Given the description of an element on the screen output the (x, y) to click on. 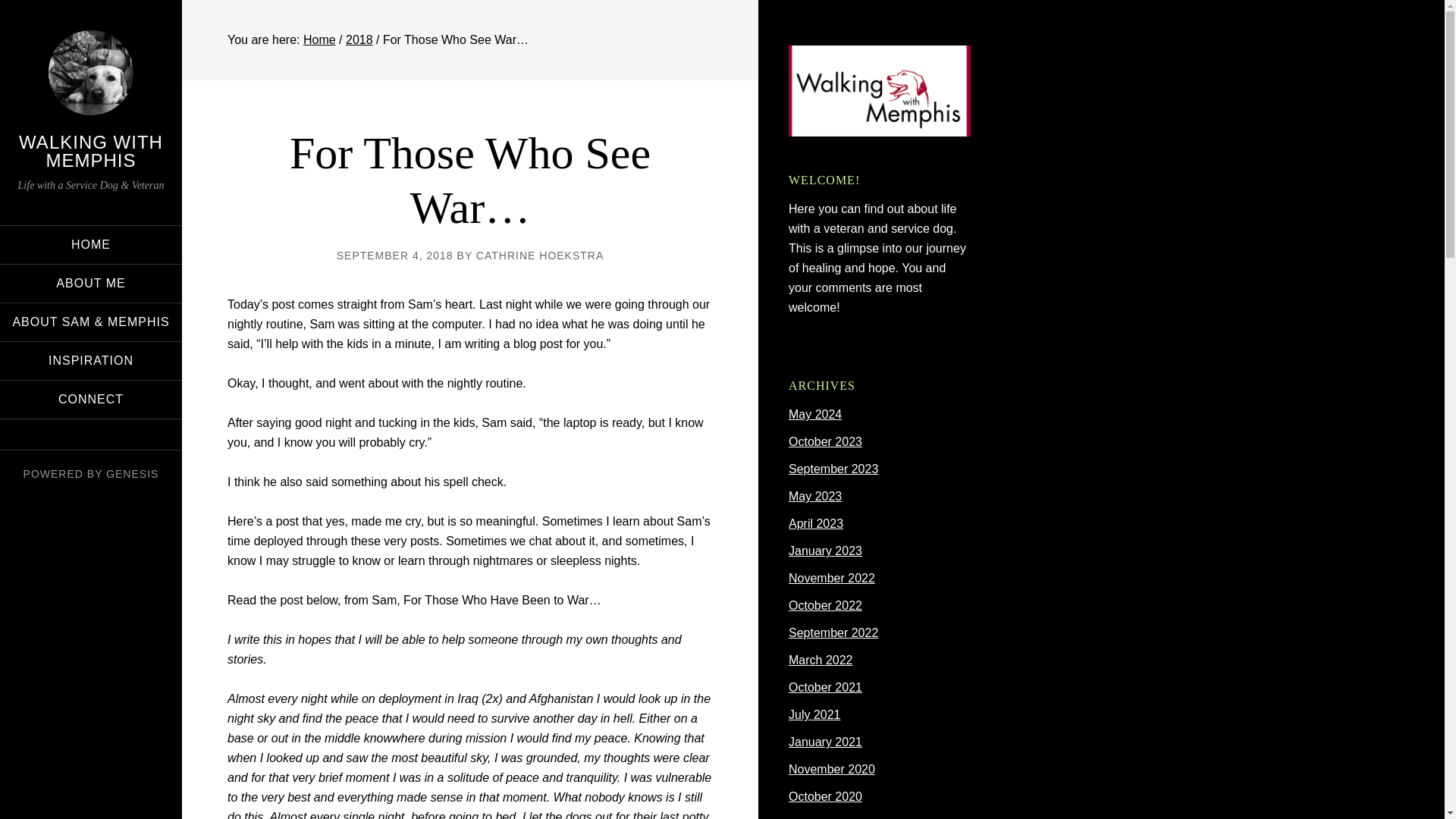
HOME (91, 244)
CONNECT (91, 399)
WALKING WITH MEMPHIS (90, 150)
Home (319, 39)
GENESIS (132, 473)
ABOUT ME (91, 283)
2018 (359, 39)
CATHRINE HOEKSTRA (540, 255)
INSPIRATION (91, 361)
